Given the description of an element on the screen output the (x, y) to click on. 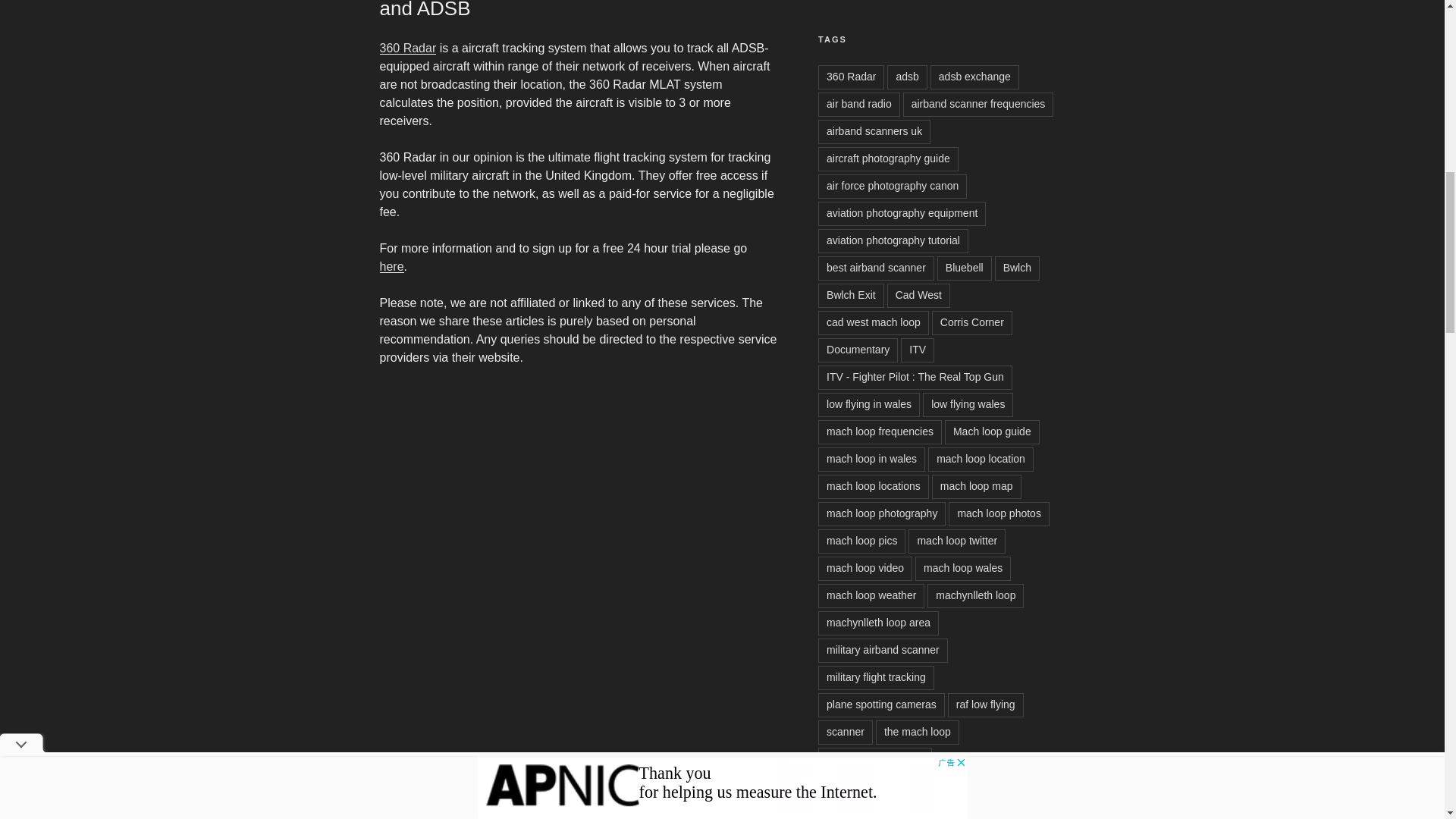
airband scanner frequencies (978, 104)
360 Radar (850, 77)
adsb exchange (974, 77)
air force photography canon (892, 186)
aviation photography equipment (901, 213)
adsb (906, 77)
Live Aircraft Tracking with 360 Radar MLAT and ADSB (566, 9)
air band radio (858, 104)
airband scanners uk (874, 131)
here (390, 266)
